Given the description of an element on the screen output the (x, y) to click on. 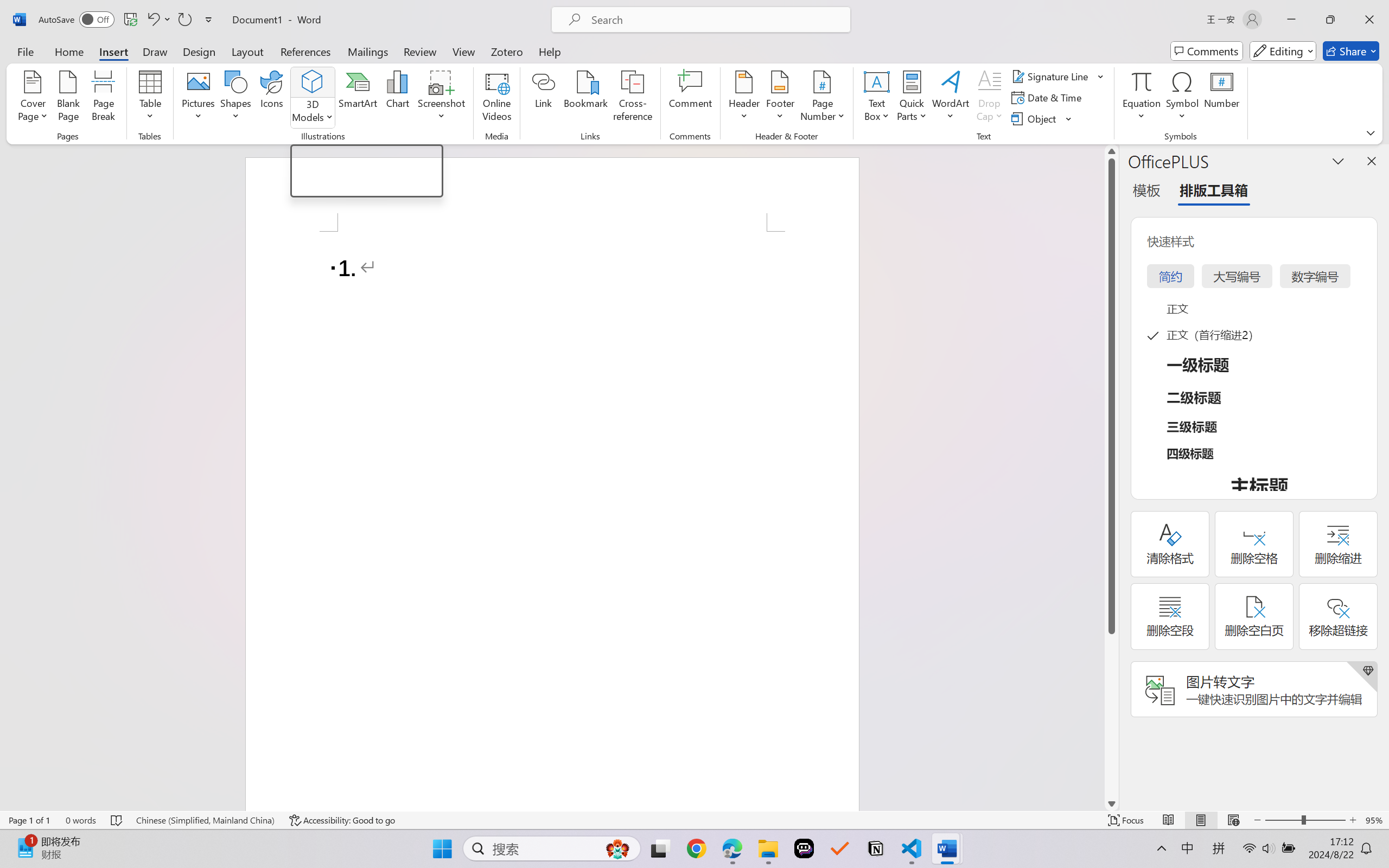
3D Models (312, 81)
Page 1 content (552, 520)
Quick Parts (912, 97)
Icons (271, 97)
Screenshot (441, 97)
SmartArt... (358, 97)
